Given the description of an element on the screen output the (x, y) to click on. 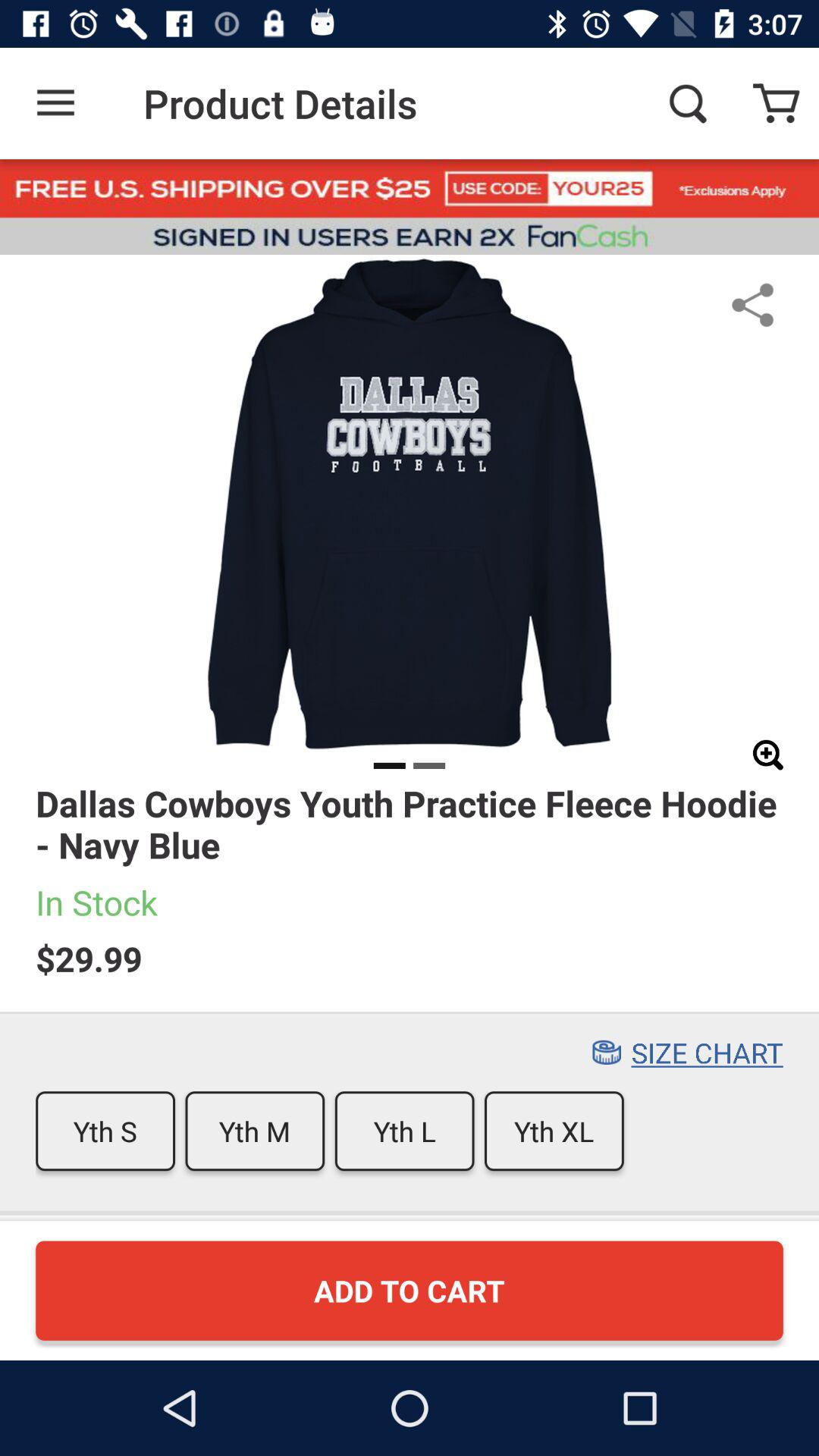
scroll to the size chart icon (707, 1052)
